Given the description of an element on the screen output the (x, y) to click on. 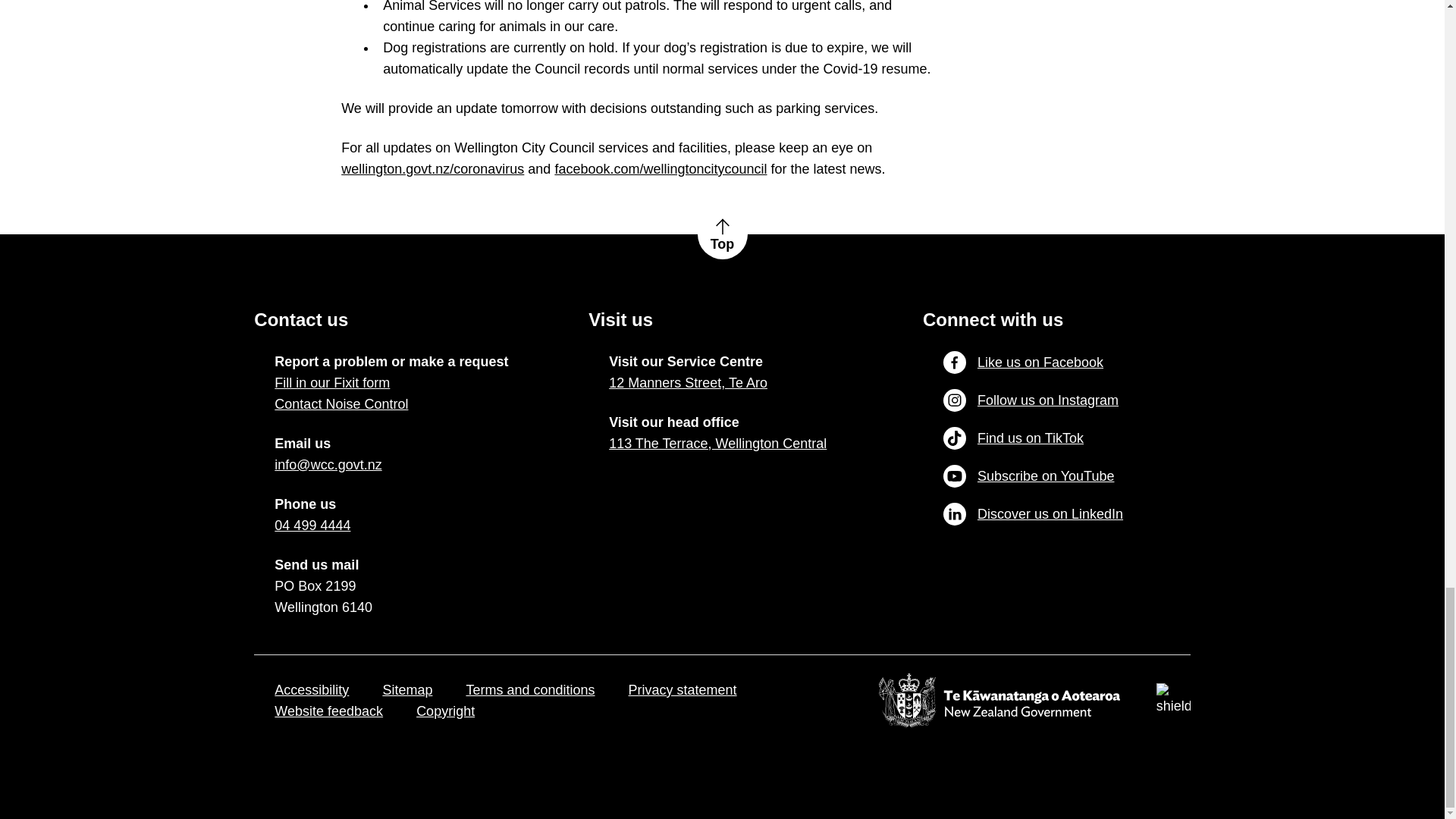
Find us on TikTok (1013, 437)
Link opens in a new window (328, 464)
Follow us on Instagram (1030, 400)
Sitemap (406, 690)
113 The Terrace, Wellington Central (717, 443)
Link opens in a new window (312, 525)
Top (722, 234)
Terms and conditions (529, 690)
Link opens in a new window (687, 382)
Link opens in a new window (717, 443)
